Given the description of an element on the screen output the (x, y) to click on. 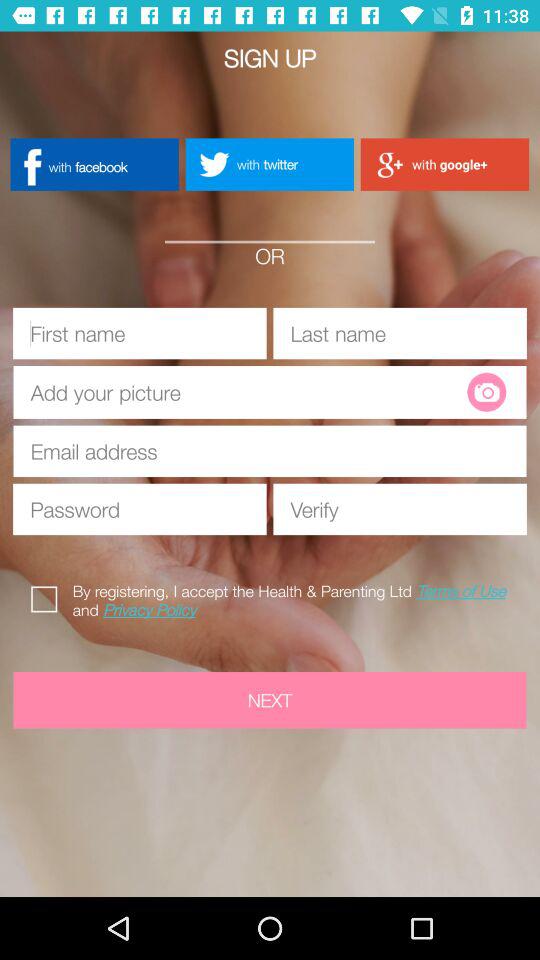
enter email address (269, 451)
